Given the description of an element on the screen output the (x, y) to click on. 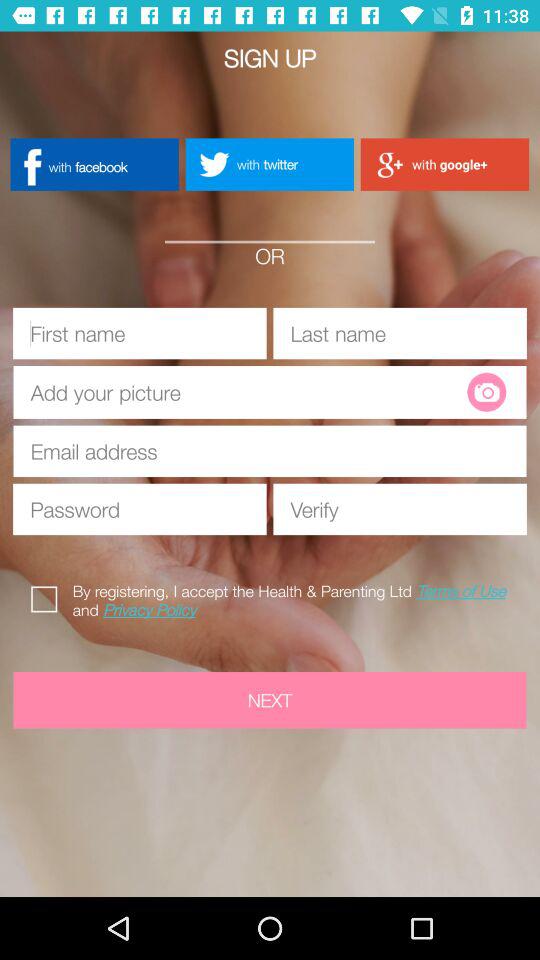
enter email address (269, 451)
